Given the description of an element on the screen output the (x, y) to click on. 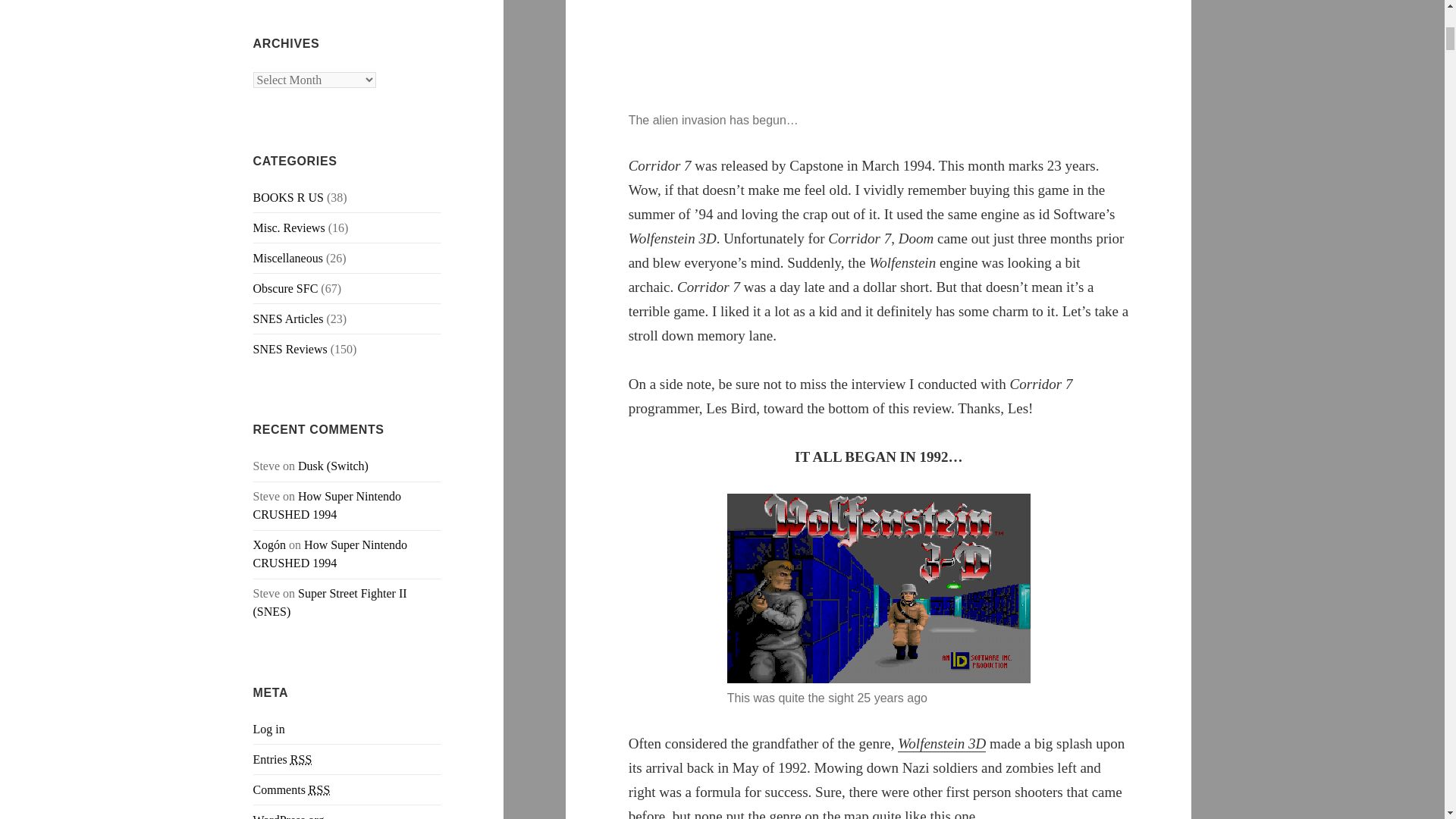
Misc. Reviews (288, 227)
WordPress.org (288, 816)
Obscure SFC (285, 287)
How Super Nintendo CRUSHED 1994 (330, 553)
SNES Articles (288, 318)
Really Simple Syndication (319, 789)
How Super Nintendo CRUSHED 1994 (327, 504)
Entries RSS (283, 759)
SNES Reviews (290, 349)
Log in (269, 728)
